Given the description of an element on the screen output the (x, y) to click on. 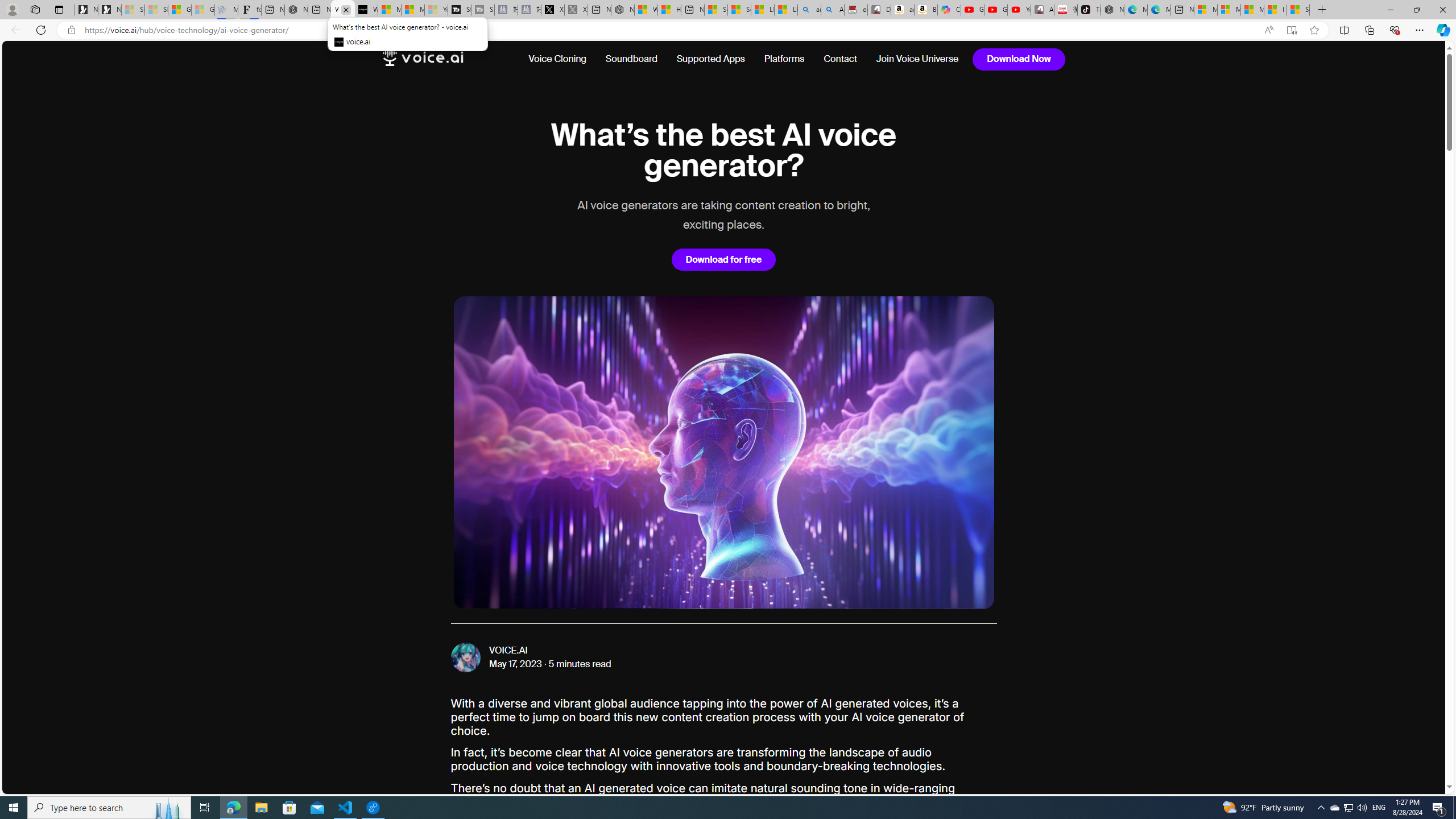
5 minutes read (579, 663)
Contact (840, 59)
Download Now (1018, 58)
Contact (839, 59)
VOICE.AI (508, 650)
Soundboard (631, 59)
Download for free (723, 259)
Nordace - My Account (622, 9)
